Given the description of an element on the screen output the (x, y) to click on. 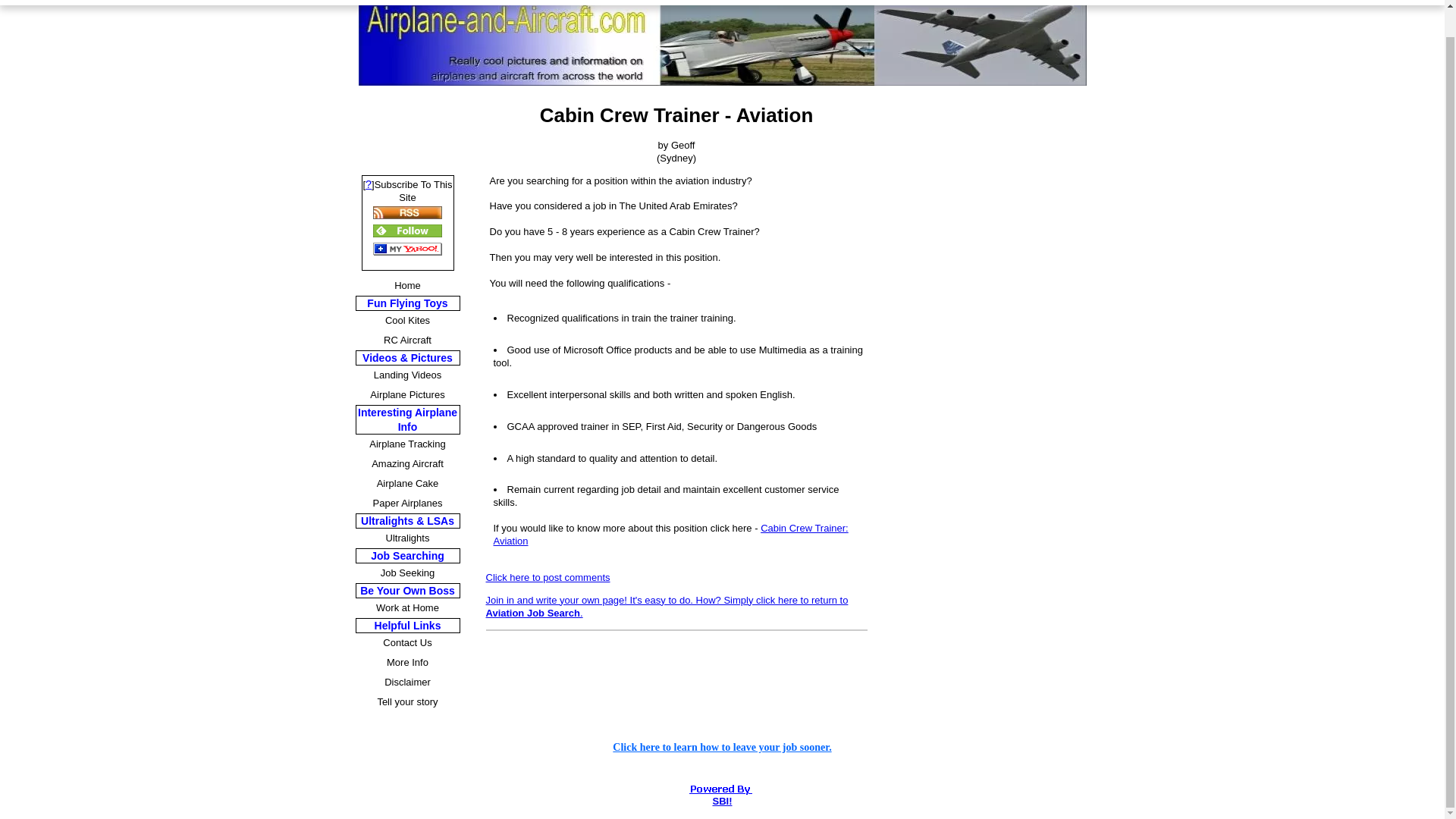
Airplane Tracking (407, 444)
Contact Us (407, 642)
Tell your story (407, 701)
Ultralights (407, 537)
Job Seeking (407, 573)
Click here to learn how to leave your job sooner. (721, 747)
Cool Kites (407, 320)
Welcome to Airplane-and-Aircraft.com (721, 747)
Cabin Crew Trainer: Aviation (670, 534)
Work at Home (407, 608)
